Given the description of an element on the screen output the (x, y) to click on. 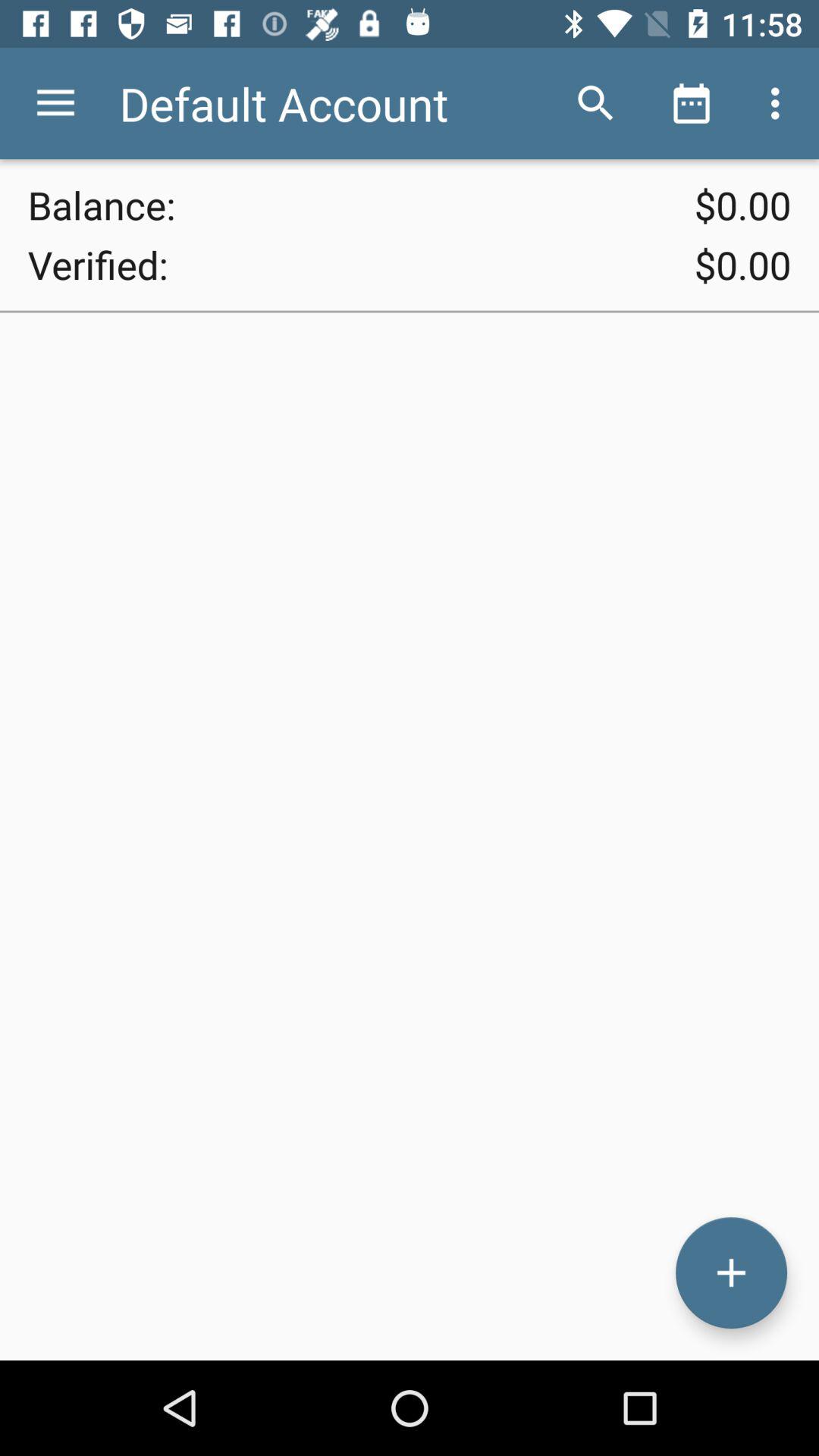
turn on icon next to the default account item (595, 103)
